Given the description of an element on the screen output the (x, y) to click on. 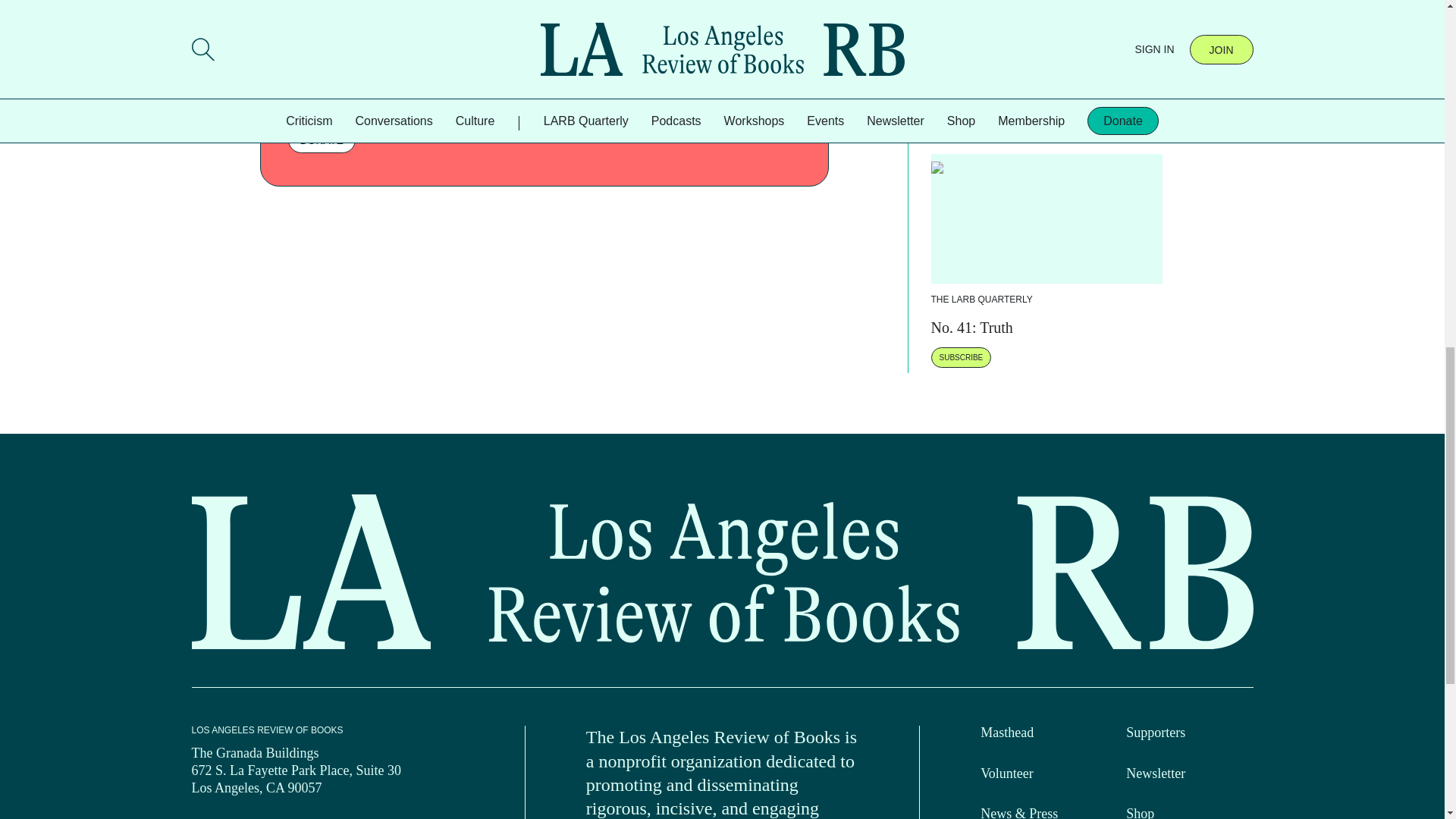
Chinese Production, American Consumption (1068, 2)
YouTube (321, 818)
Twitter (234, 818)
DONATE (321, 139)
KATE MERKEL-HESS (1022, 25)
